Given the description of an element on the screen output the (x, y) to click on. 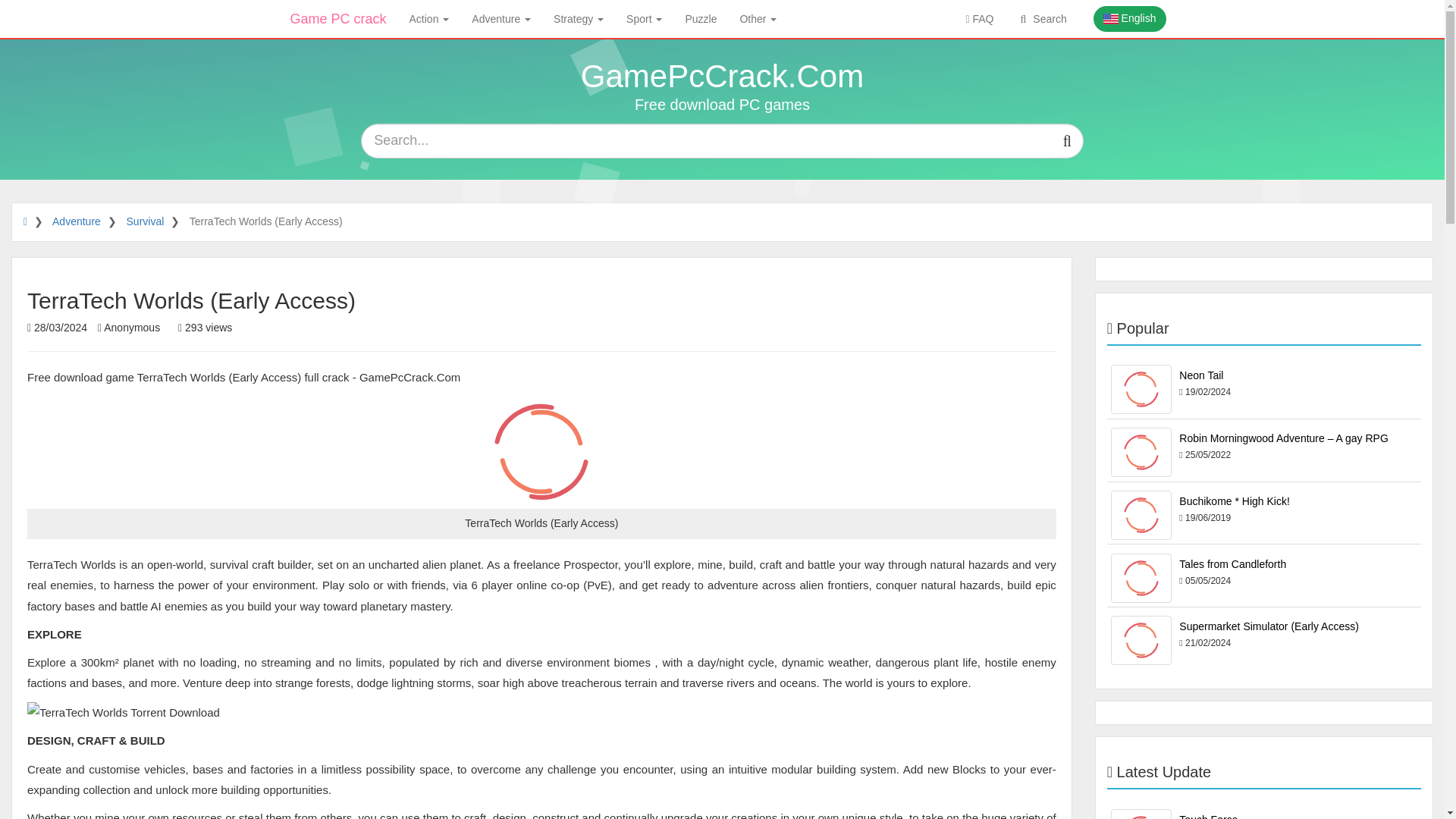
FAQ (978, 18)
Puzzle (700, 18)
English (1129, 18)
Game PC crack (338, 18)
Neon Tail (1141, 389)
Action (429, 18)
TerraTech Worlds Torrent Download (123, 711)
Views (204, 327)
Download game Adventure (76, 221)
Adventure (500, 18)
Sport (643, 18)
Adventure (76, 221)
Strategy (577, 18)
Survival (145, 221)
Search (1040, 18)
